Given the description of an element on the screen output the (x, y) to click on. 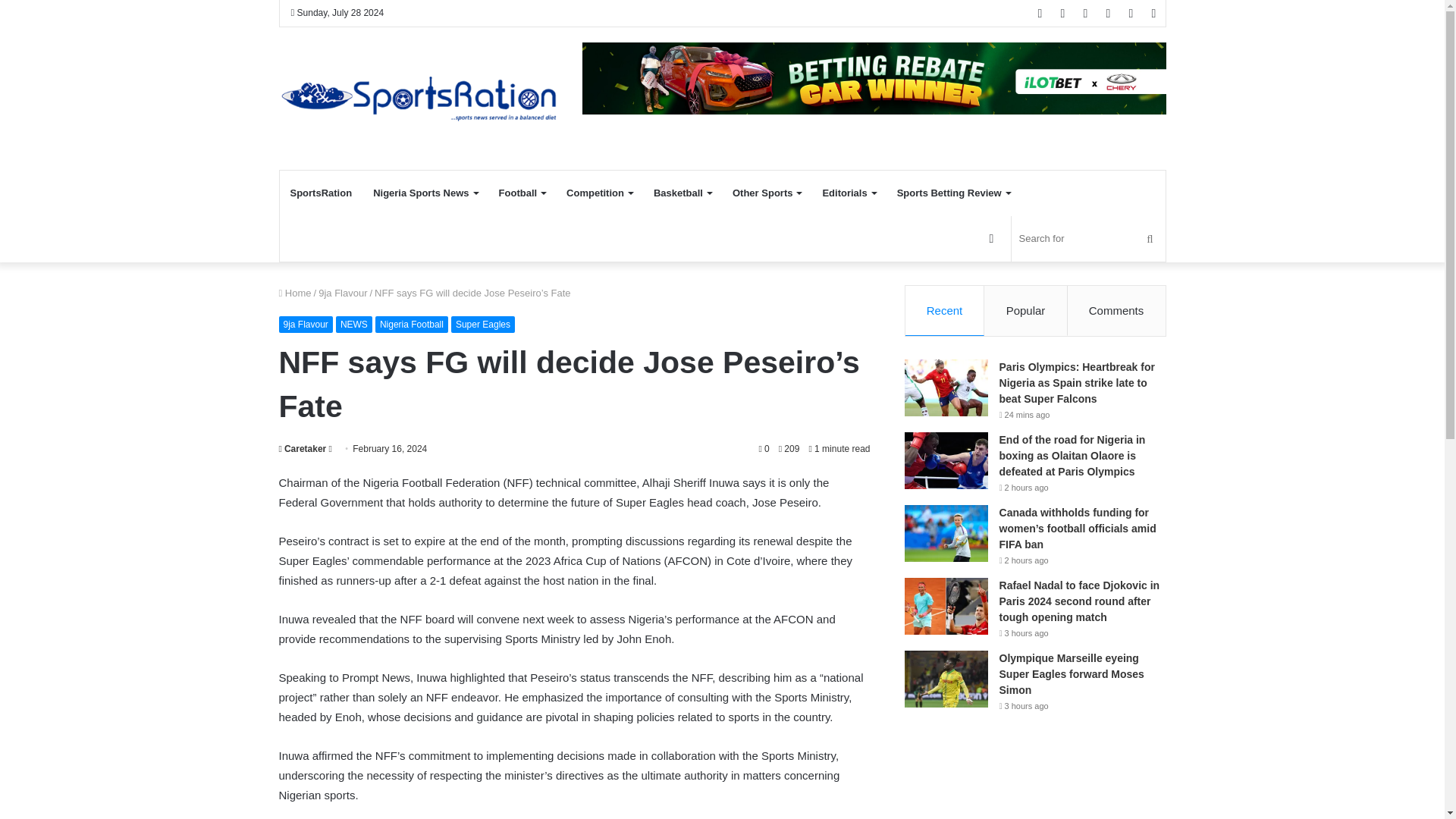
Search for (1088, 238)
Nigeria Sports News (424, 193)
Caretaker (302, 448)
SportsRation (320, 193)
Football (521, 193)
